Given the description of an element on the screen output the (x, y) to click on. 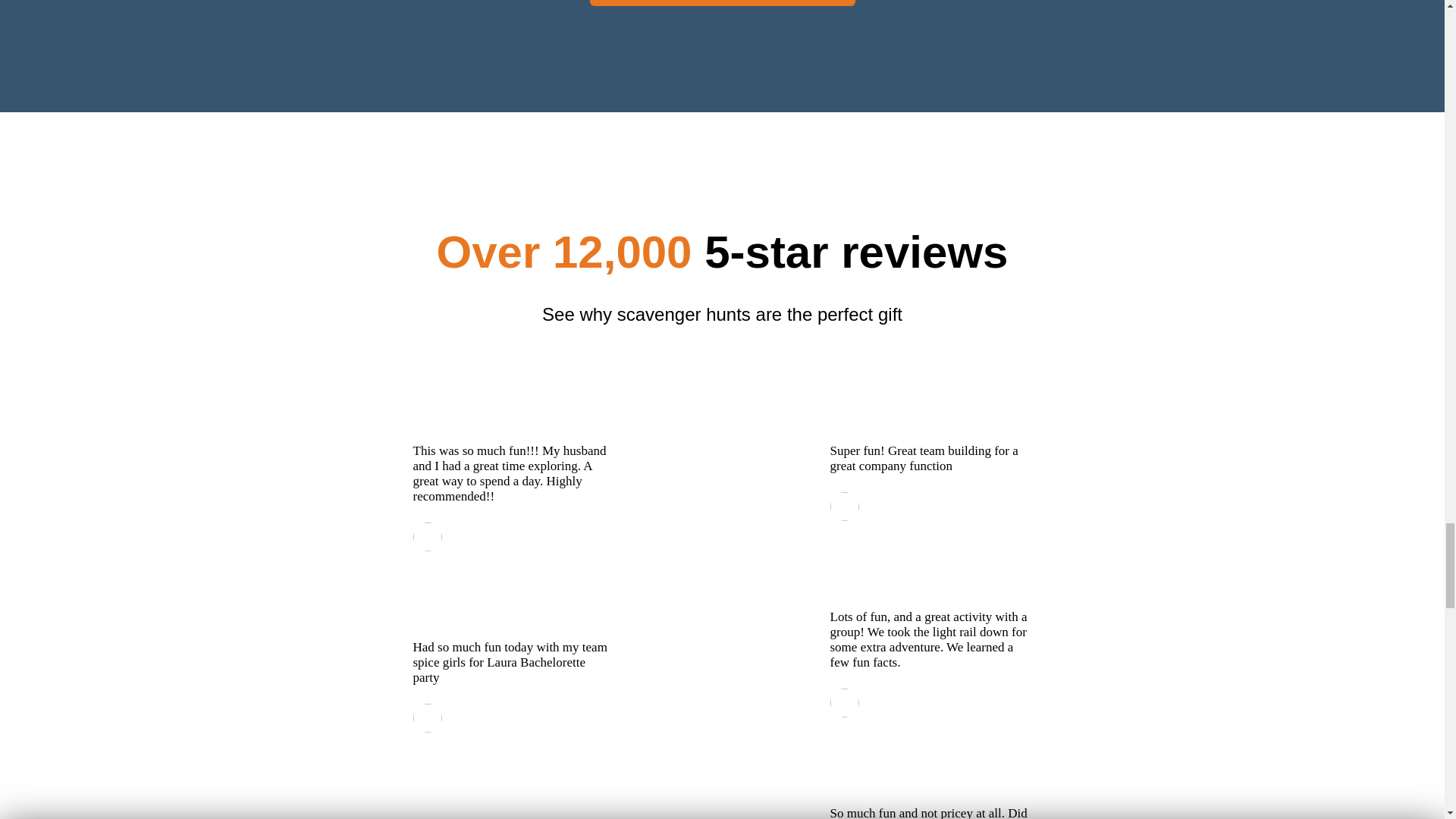
Get Tickets (722, 2)
